Given the description of an element on the screen output the (x, y) to click on. 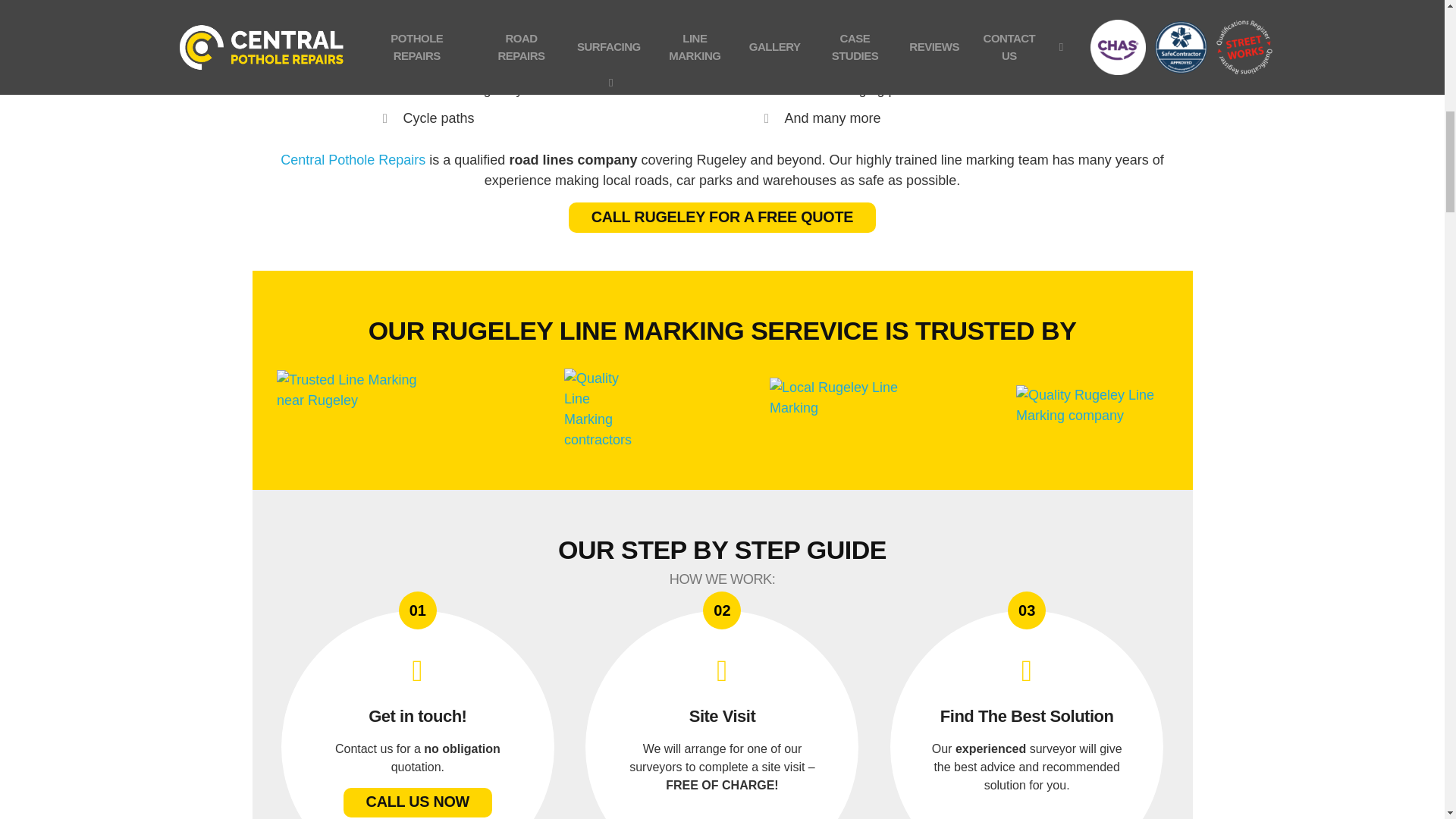
Central Pothole Repairs (353, 159)
Costa Coffee (845, 406)
CALL US NOW (417, 802)
NHS logo Rugeley (722, 557)
CALL RUGELEY FOR A FREE QUOTE (352, 406)
OUR RUGELEY LINE MARKING SEREVICE IS TRUSTED BY (722, 217)
KFC Logo Rugeley (721, 334)
